Given the description of an element on the screen output the (x, y) to click on. 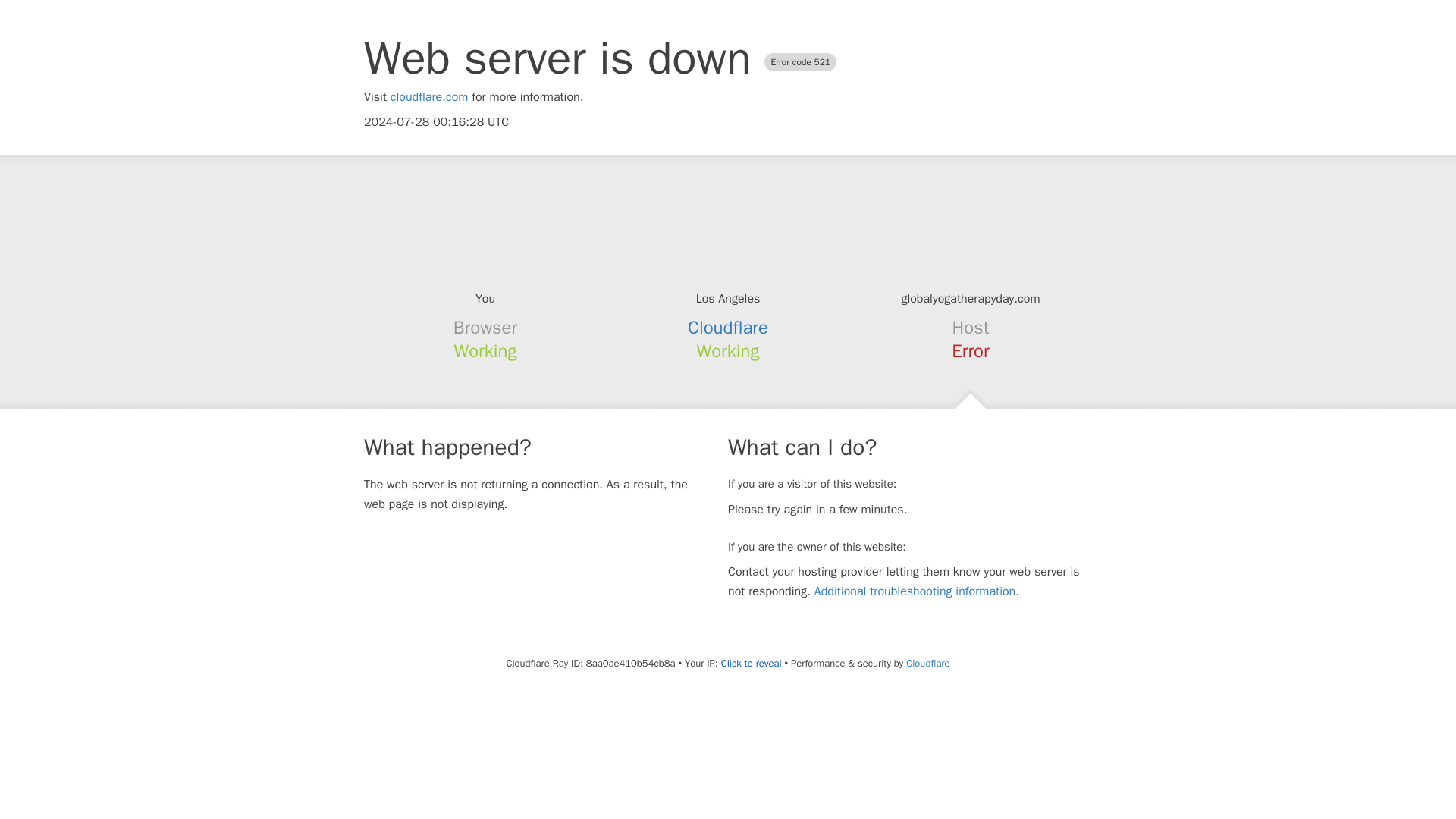
Cloudflare (727, 327)
Additional troubleshooting information (913, 590)
Click to reveal (750, 663)
Cloudflare (927, 662)
cloudflare.com (429, 96)
